Given the description of an element on the screen output the (x, y) to click on. 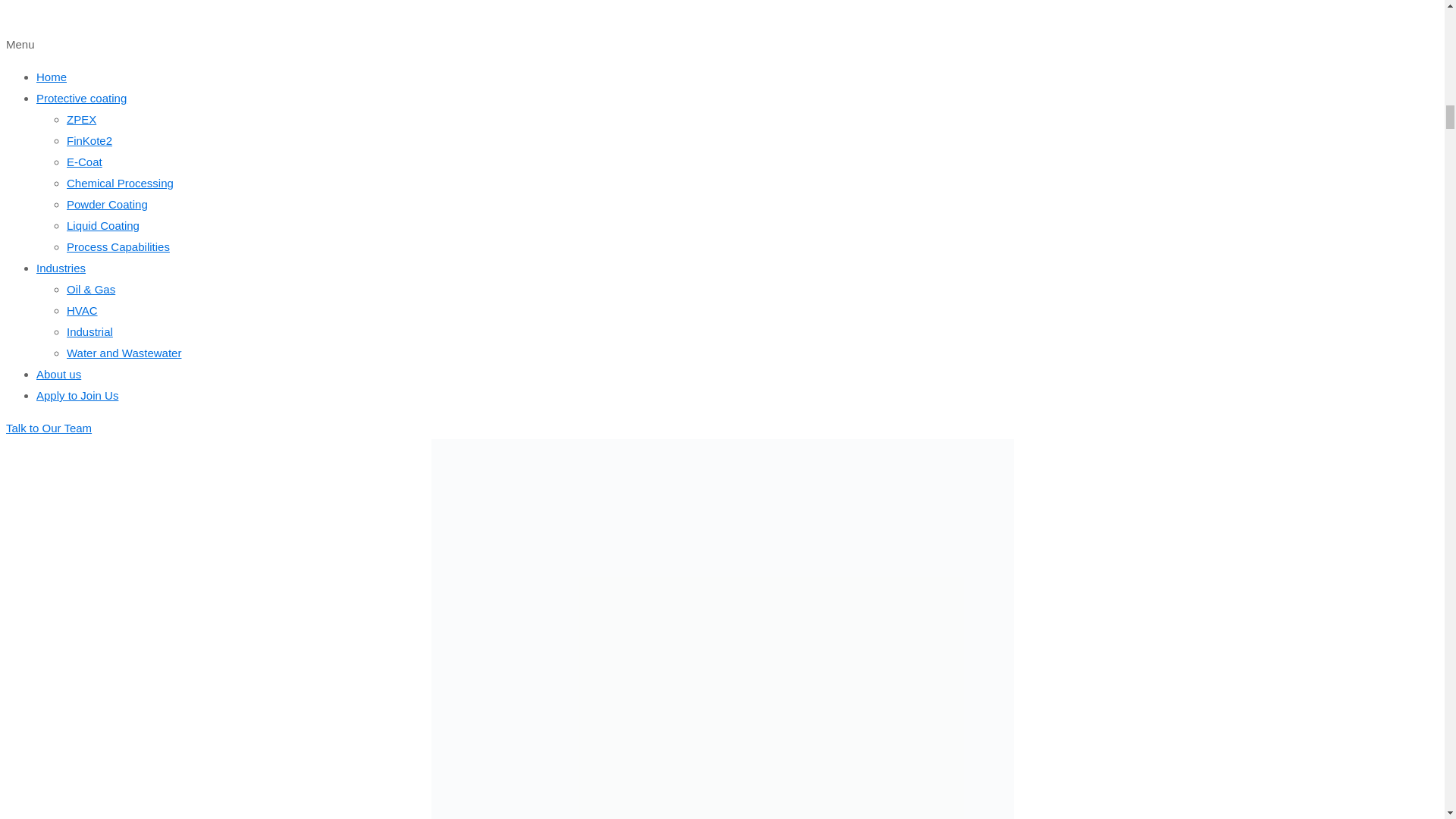
Water and Wastewater (123, 352)
Process Capabilities (118, 246)
FinKote2 (89, 140)
HVAC (81, 309)
Industrial (89, 331)
Powder Coating (107, 204)
E-Coat (83, 161)
Talk to Our Team (48, 427)
Liquid Coating (102, 225)
Protective coating (81, 97)
